Given the description of an element on the screen output the (x, y) to click on. 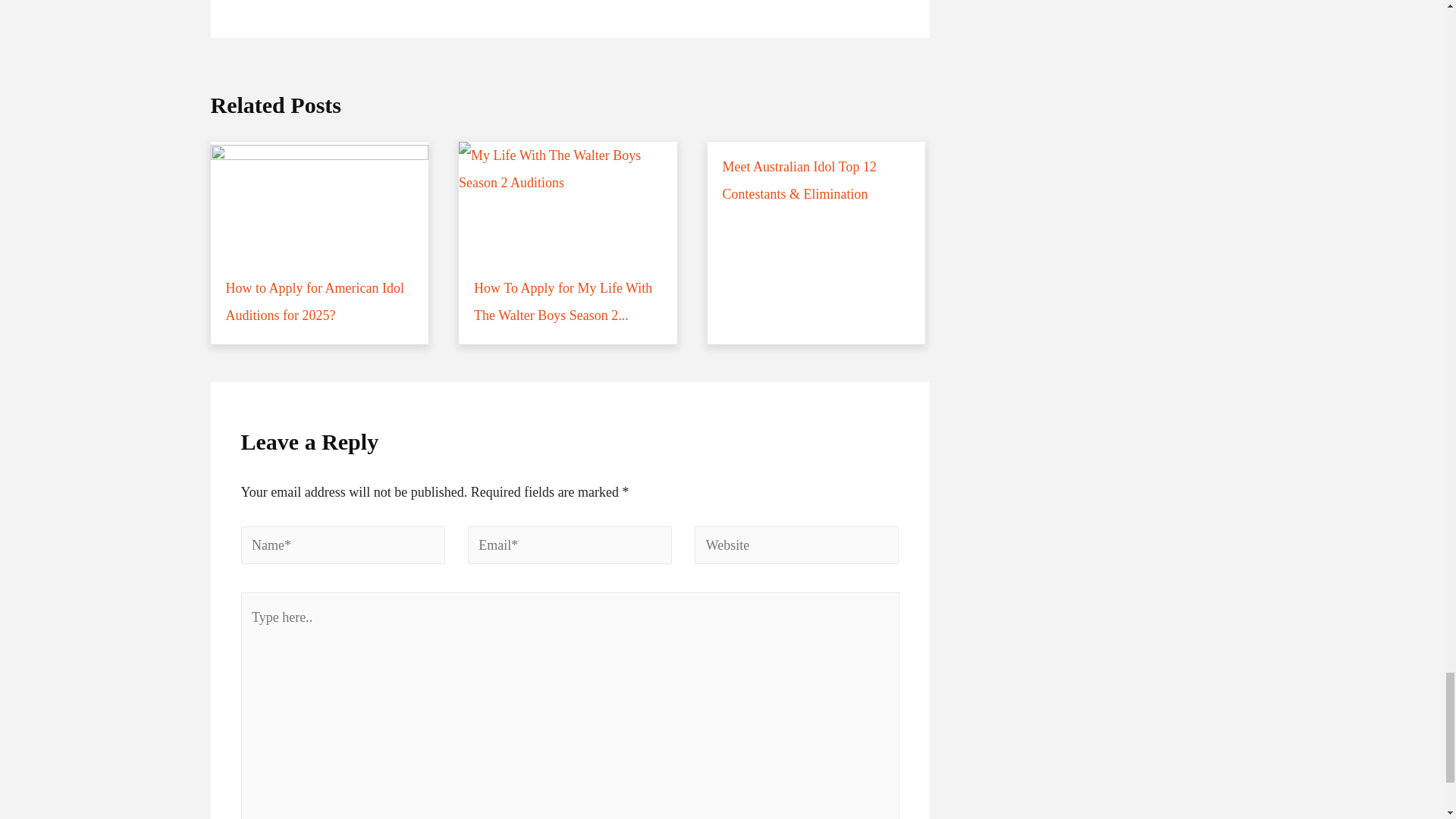
How to Apply for American Idol Auditions for 2025? (320, 242)
How To Apply for My Life With The Walter Boys Season 2... (567, 242)
How to Apply for American Idol Auditions for 2025? (320, 242)
